Given the description of an element on the screen output the (x, y) to click on. 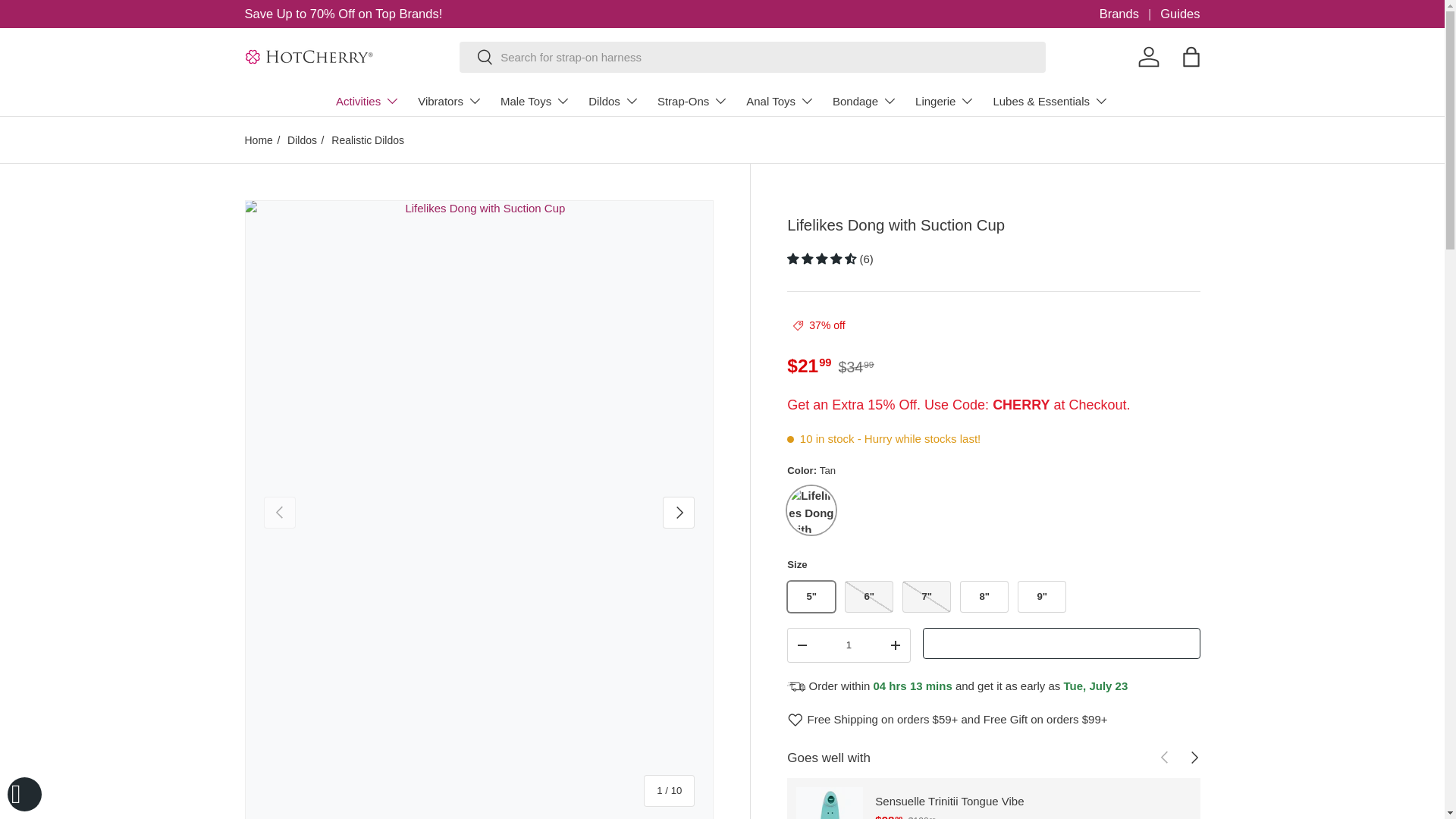
Skip to content (68, 21)
Vibrators (449, 100)
Bag (1190, 56)
Activities (367, 100)
1 (848, 644)
Sold out (868, 596)
Sold out (926, 596)
Search (476, 58)
Guides (1179, 13)
Log in (1147, 56)
Brands (1129, 13)
